Given the description of an element on the screen output the (x, y) to click on. 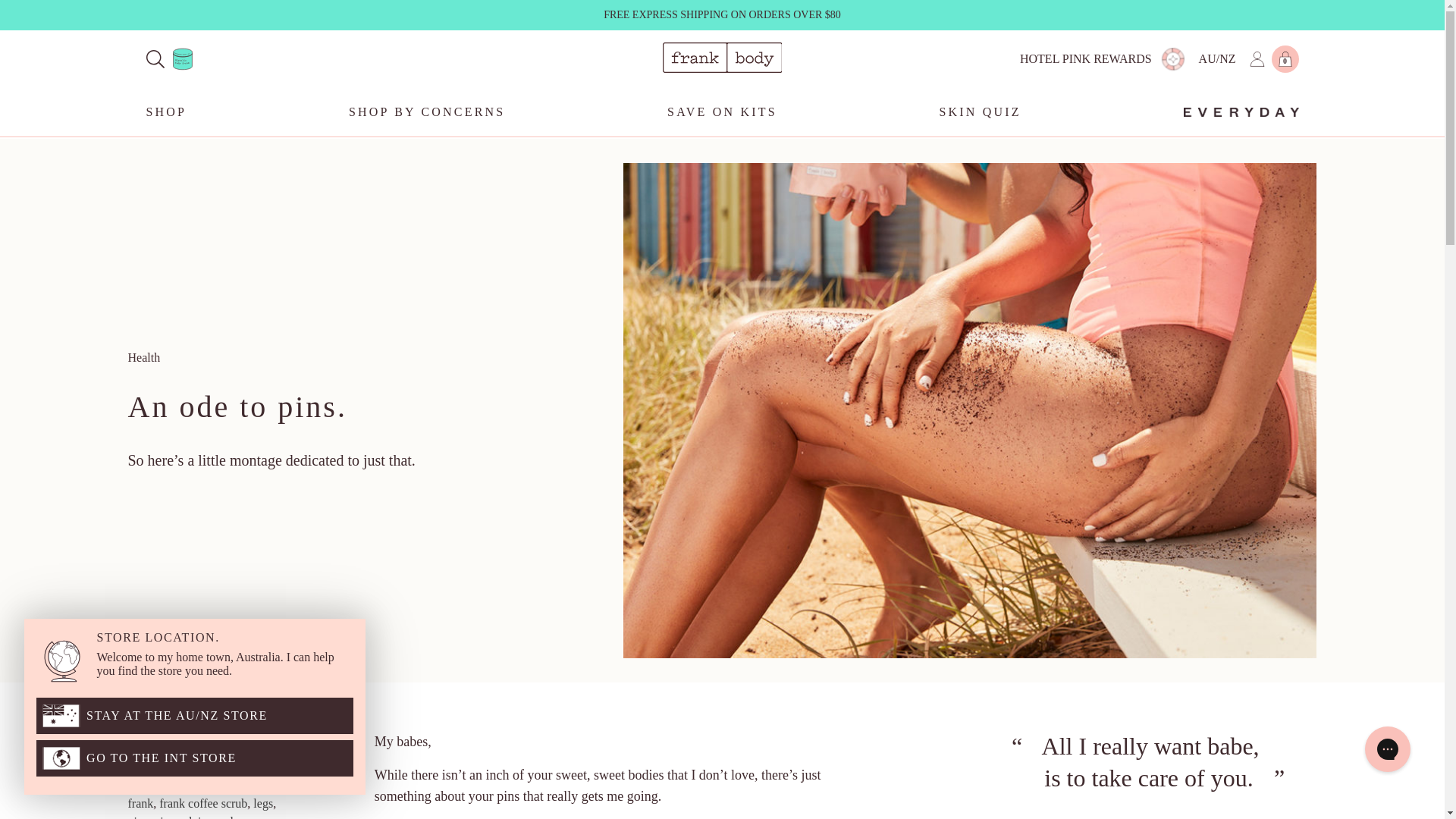
GO TO THE INT STORE (194, 758)
Gorgias live chat messenger (1387, 749)
0 (1284, 61)
HOTEL PINK REWARDS (1085, 59)
